Given the description of an element on the screen output the (x, y) to click on. 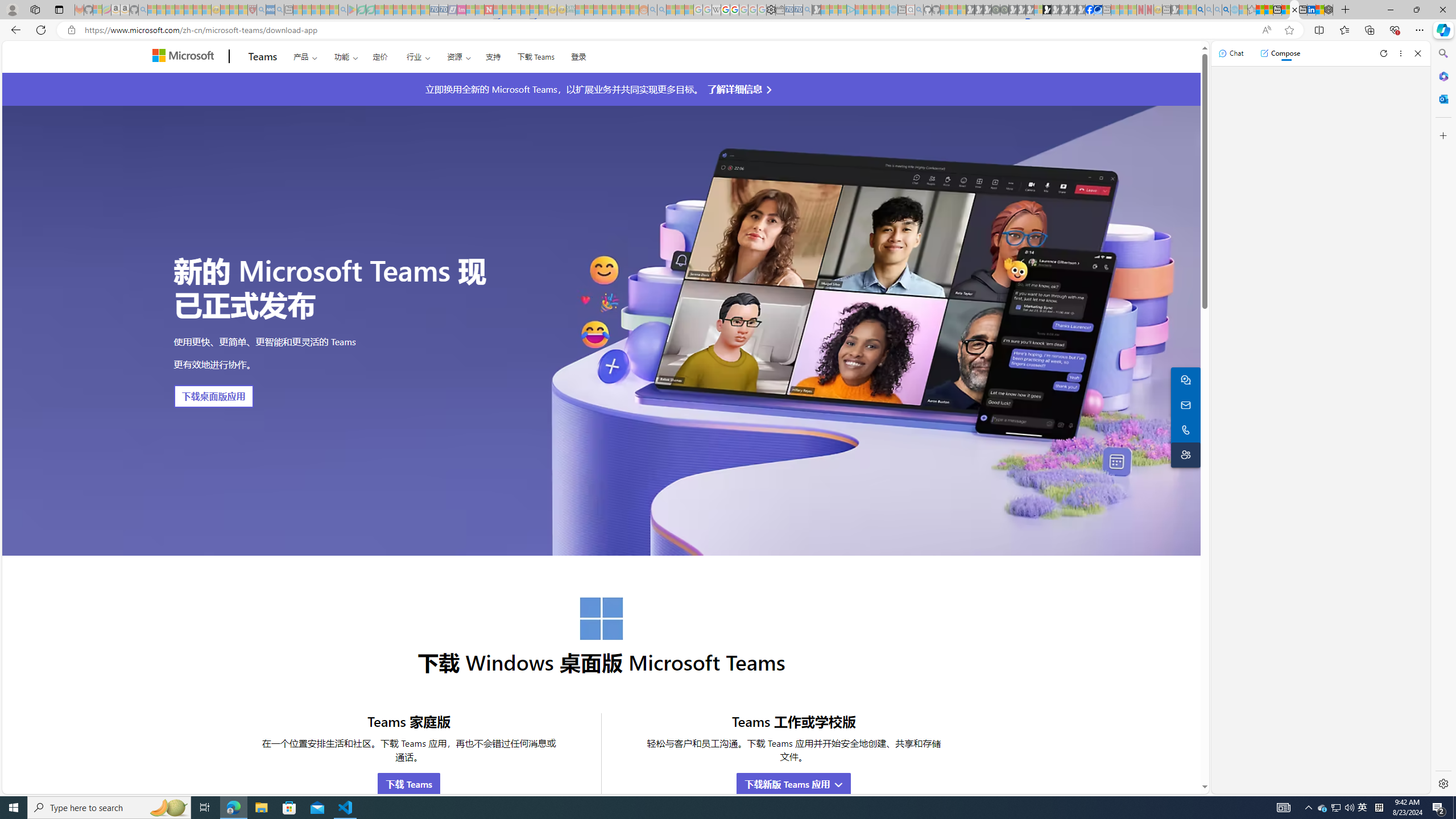
Sign in to your account - Sleeping (1038, 9)
Bing AI - Search (1200, 9)
